Given the description of an element on the screen output the (x, y) to click on. 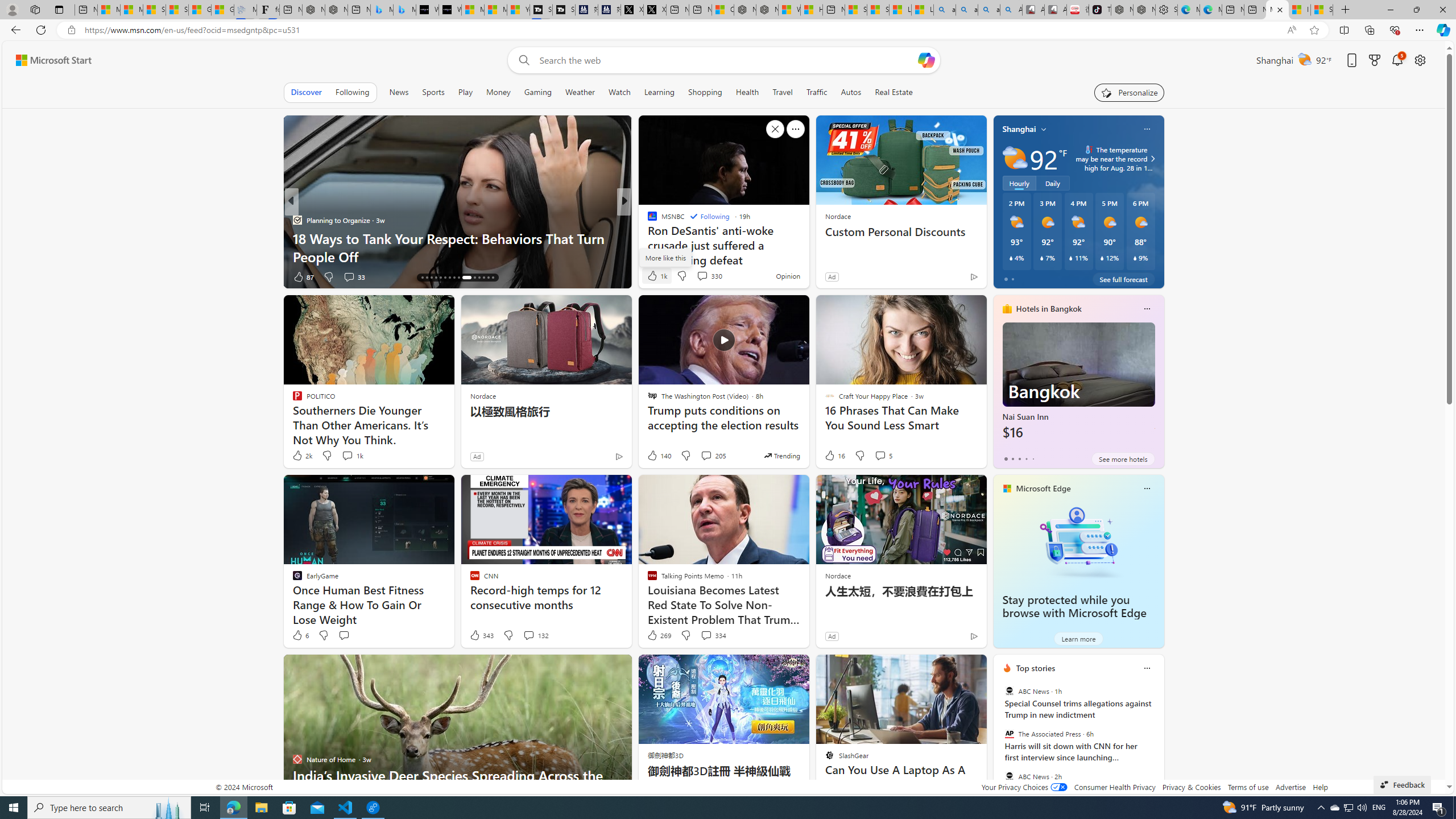
Shopping (705, 92)
tab-1 (1012, 458)
1k Like (656, 275)
343 Like (480, 634)
You're following FOX News (253, 279)
Shanghai (1018, 128)
